Given the description of an element on the screen output the (x, y) to click on. 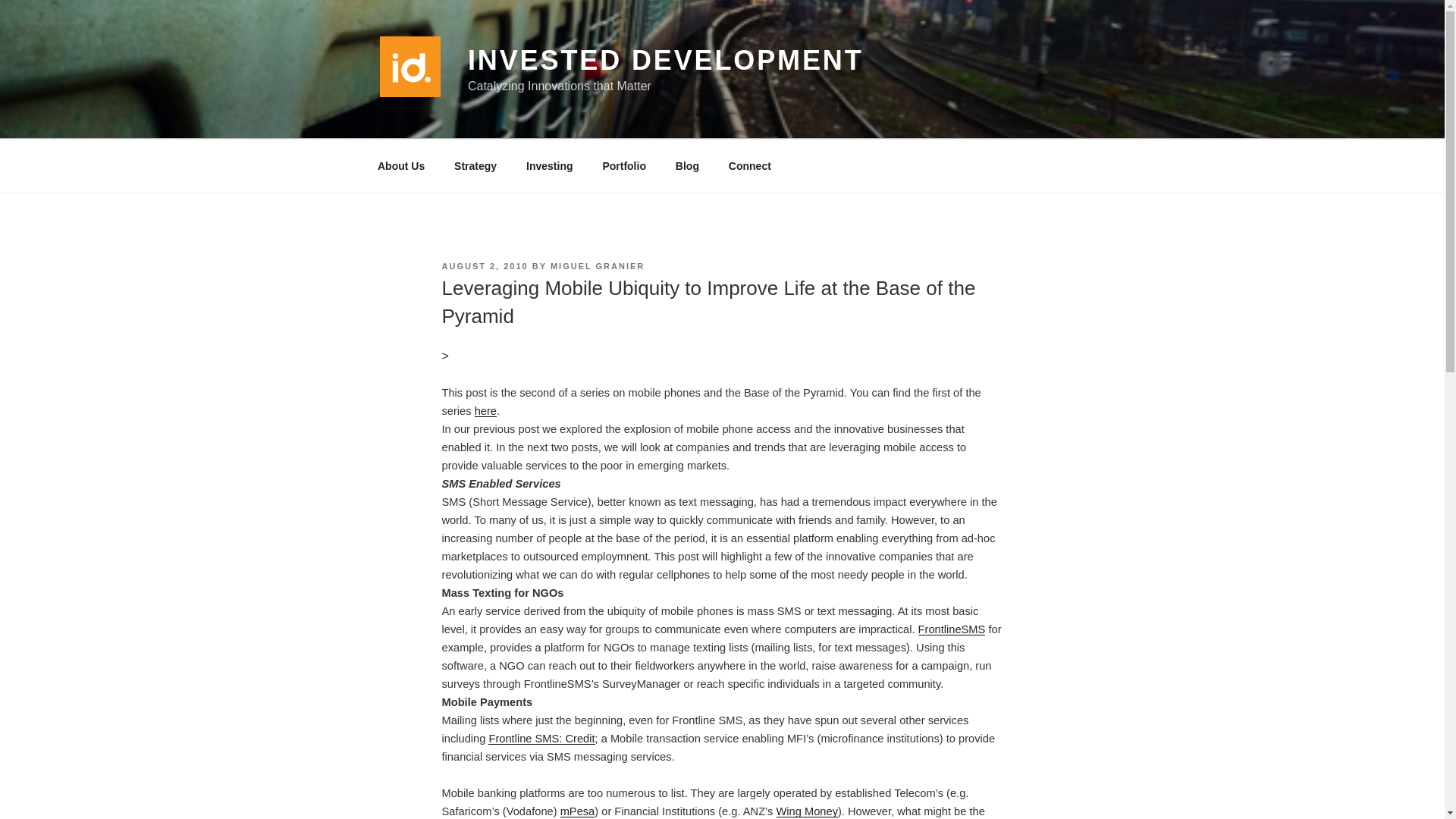
About Us (401, 165)
MIGUEL GRANIER (597, 266)
Connect (749, 165)
here (485, 410)
Investing (549, 165)
FrontlineSMS (951, 629)
mPesa (577, 811)
AUGUST 2, 2010 (484, 266)
Strategy (476, 165)
Blog (686, 165)
